Given the description of an element on the screen output the (x, y) to click on. 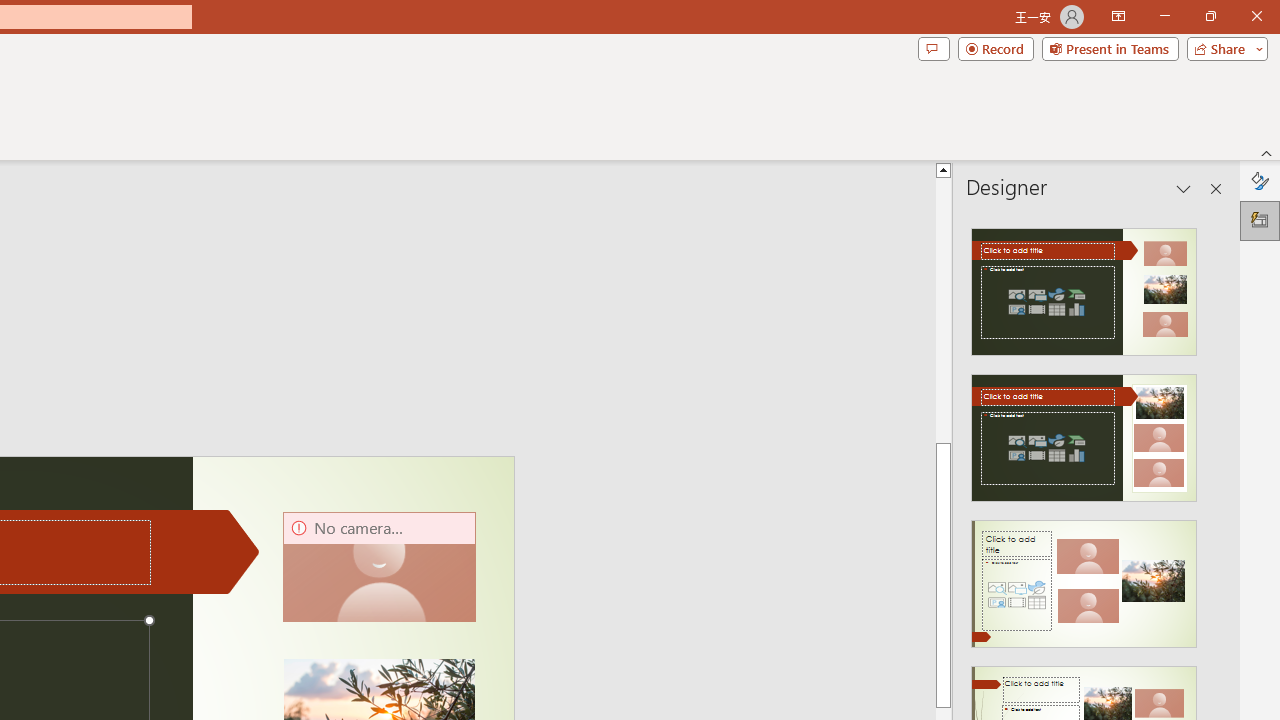
Design Idea (1083, 577)
